Given the description of an element on the screen output the (x, y) to click on. 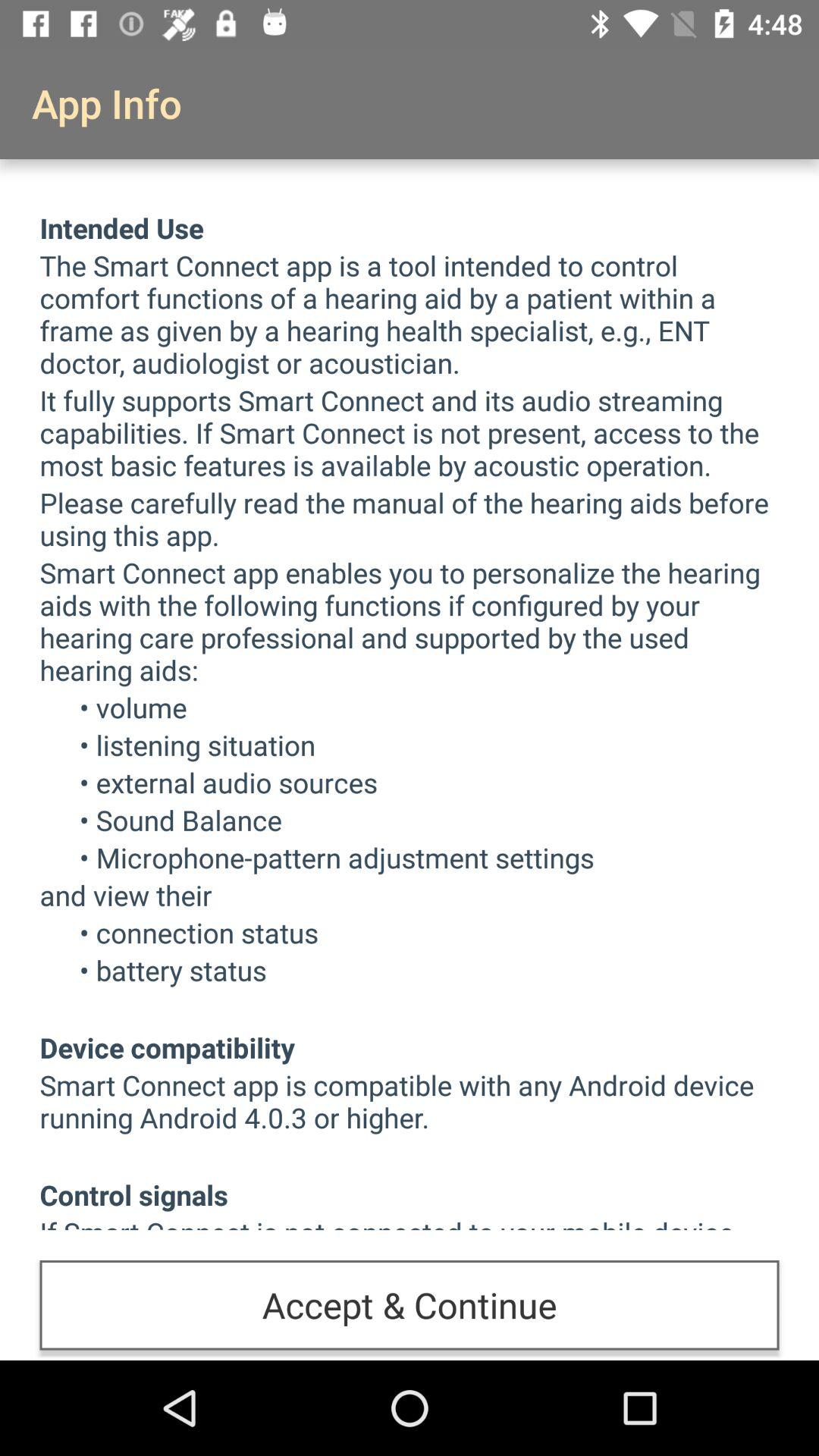
launch icon below if smart connect icon (409, 1305)
